Given the description of an element on the screen output the (x, y) to click on. 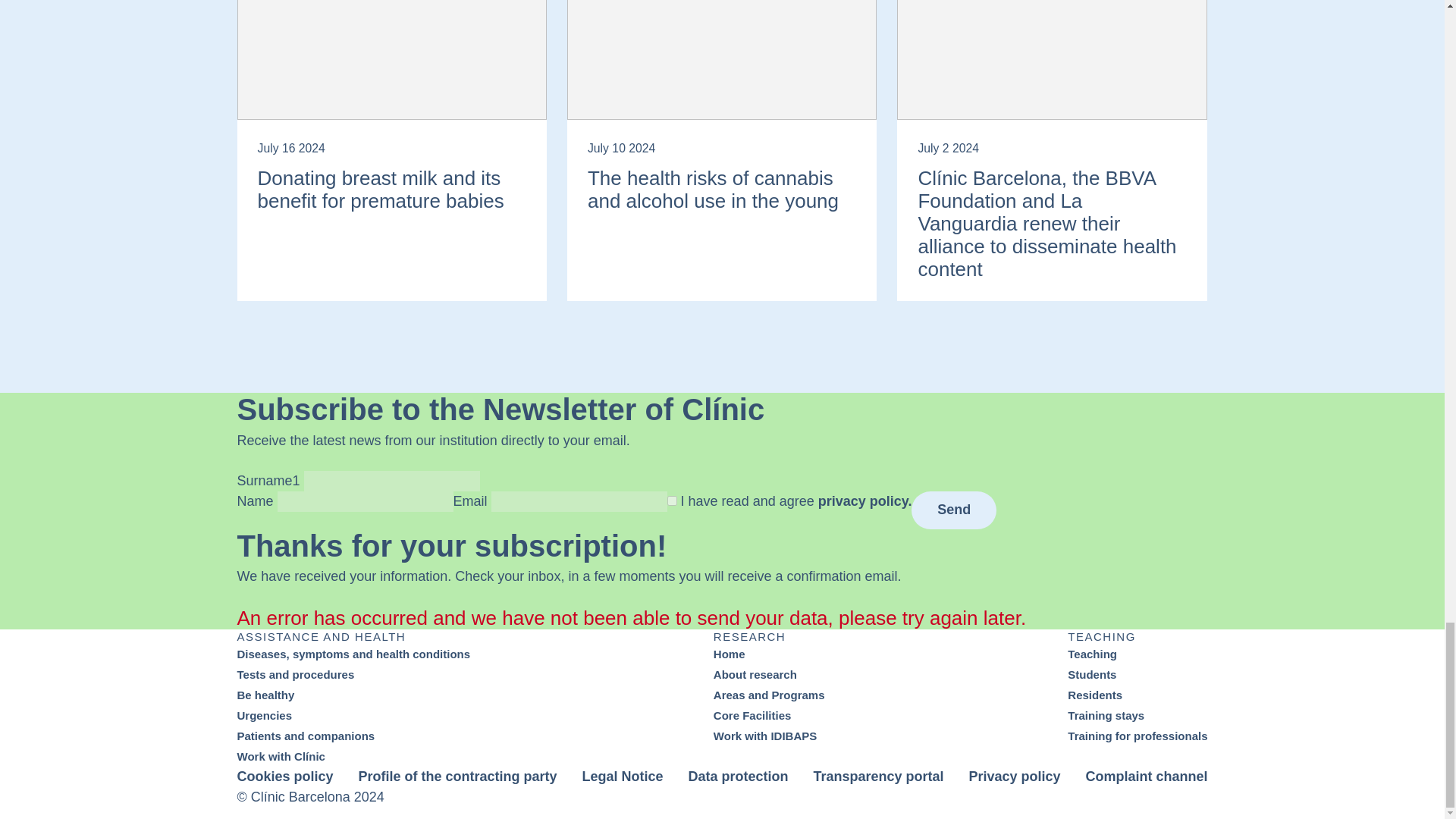
1 (671, 501)
